Given the description of an element on the screen output the (x, y) to click on. 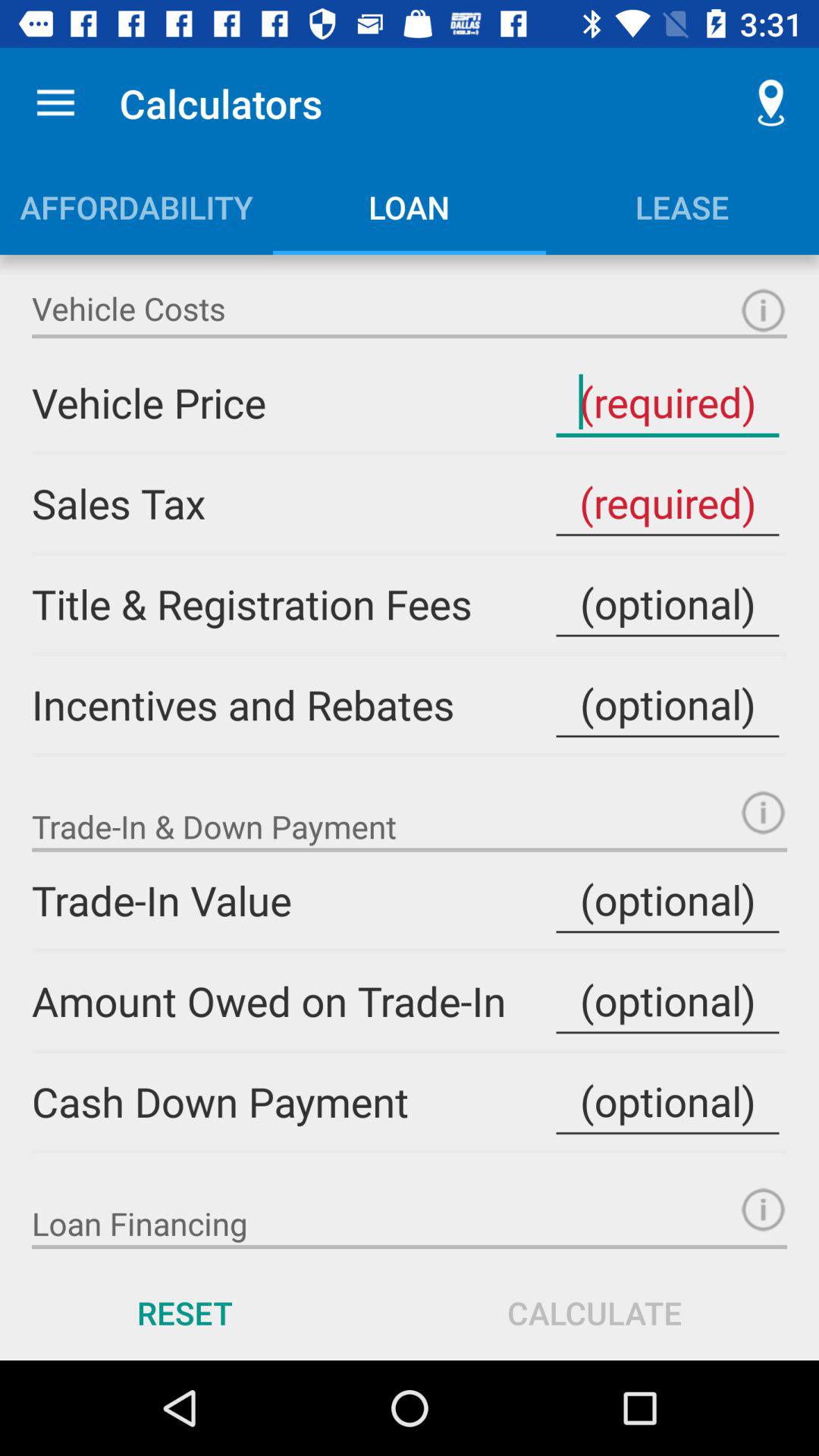
vehicle price input (763, 310)
